Given the description of an element on the screen output the (x, y) to click on. 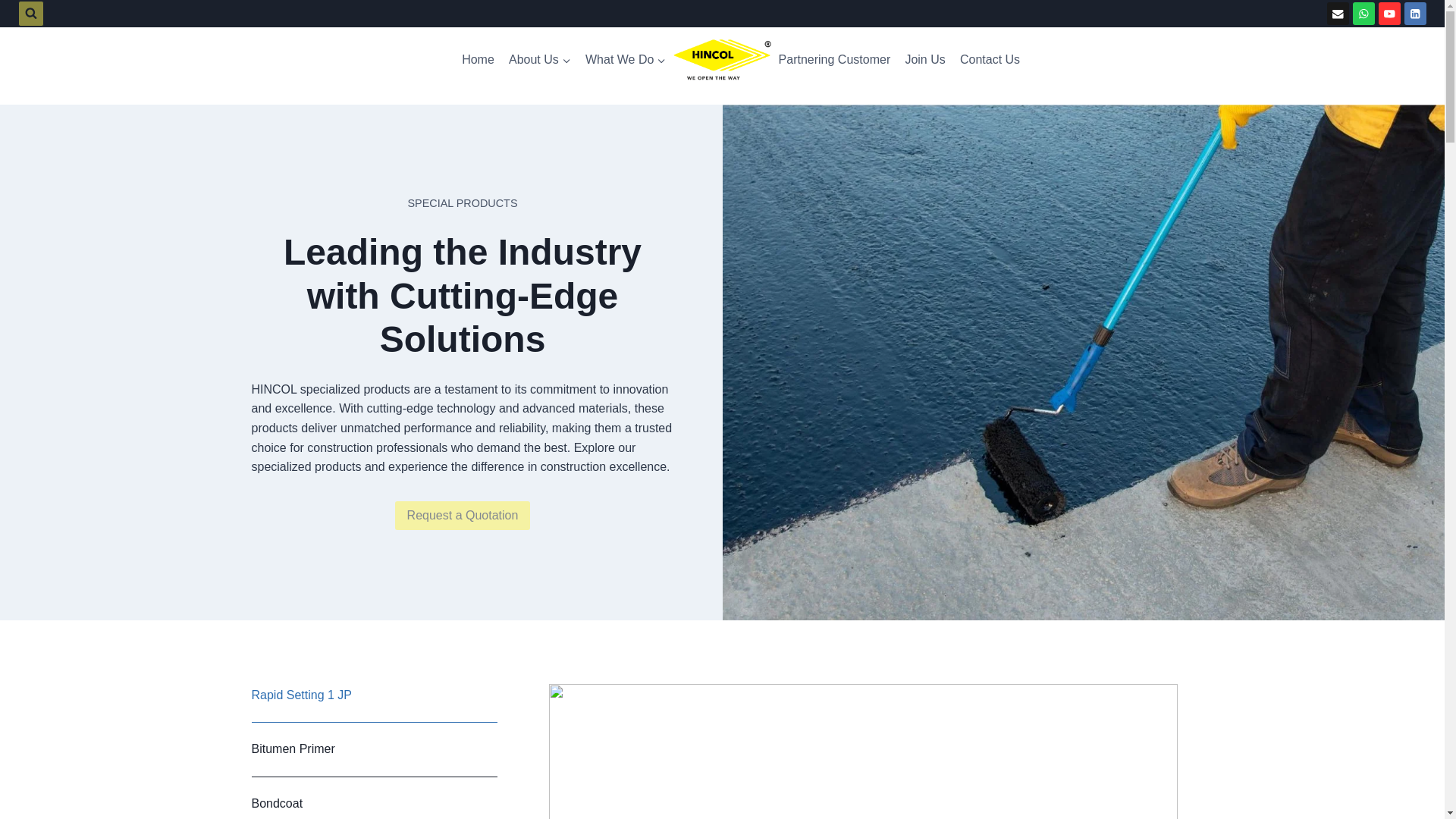
Bitumen Primer (374, 749)
Rapid Setting 1 JP (374, 695)
Contact Us (989, 59)
What We Do (625, 59)
About Us (539, 59)
Bondcoat (374, 798)
Home (478, 59)
Request a Quotation (462, 515)
Join Us (925, 59)
Partnering Customer (834, 59)
